Given the description of an element on the screen output the (x, y) to click on. 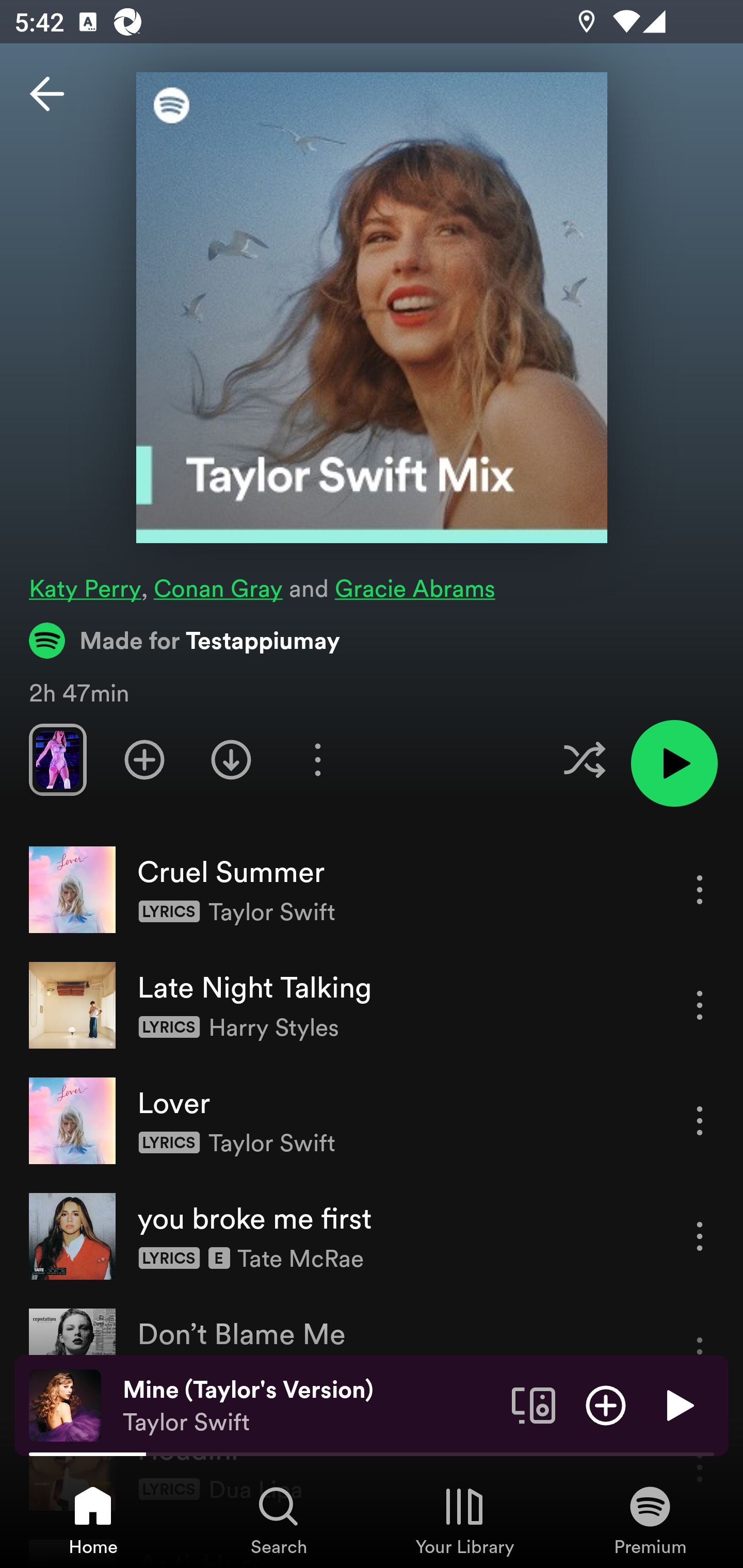
Back (46, 93)
Made for Testappiumay (184, 640)
Add playlist to Your Library (144, 759)
Download (230, 759)
More options for playlist Taylor Swift Mix (317, 759)
Enable shuffle for this playlist (583, 759)
Play playlist (674, 763)
More options for song Cruel Summer (699, 889)
More options for song Late Night Talking (699, 1004)
More options for song Lover (699, 1120)
More options for song you broke me first (699, 1236)
Mine (Taylor's Version) Taylor Swift (309, 1405)
The cover art of the currently playing track (64, 1404)
Connect to a device. Opens the devices menu (533, 1404)
Add item (605, 1404)
Play (677, 1404)
Home, Tab 1 of 4 Home Home (92, 1519)
Search, Tab 2 of 4 Search Search (278, 1519)
Your Library, Tab 3 of 4 Your Library Your Library (464, 1519)
Premium, Tab 4 of 4 Premium Premium (650, 1519)
